Given the description of an element on the screen output the (x, y) to click on. 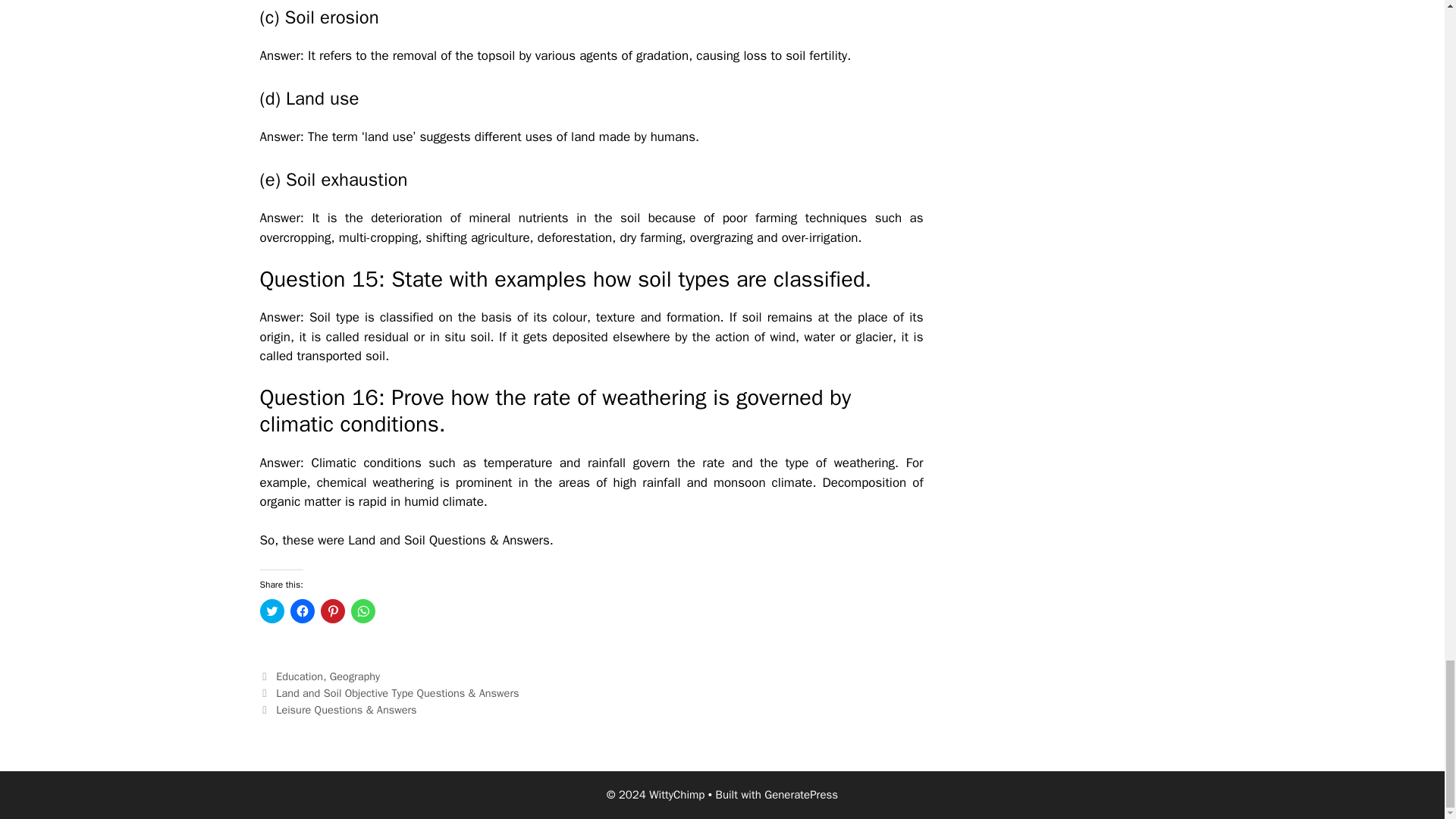
Click to share on Twitter (271, 610)
Education (299, 676)
Click to share on Pinterest (331, 610)
Click to share on Facebook (301, 610)
Geography (355, 676)
Click to share on WhatsApp (362, 610)
